Given the description of an element on the screen output the (x, y) to click on. 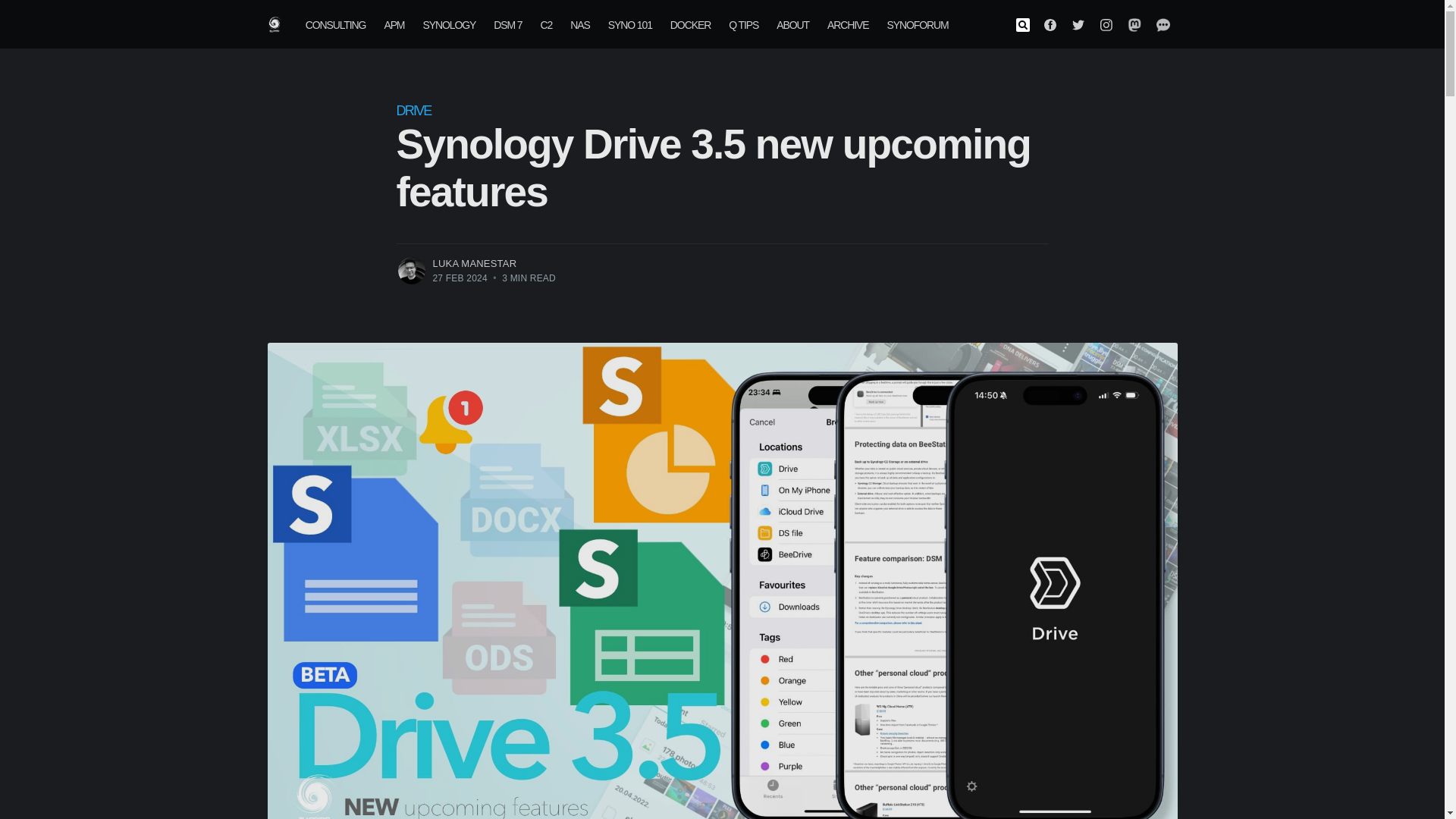
CONSULTING (336, 24)
DOCKER (690, 24)
DSM 7 (507, 24)
ABOUT (792, 24)
Q TIPS (743, 24)
SYNOLOGY (448, 24)
NAS (579, 24)
DRIVE (413, 110)
SYNO 101 (629, 24)
LUKA MANESTAR (474, 263)
